Given the description of an element on the screen output the (x, y) to click on. 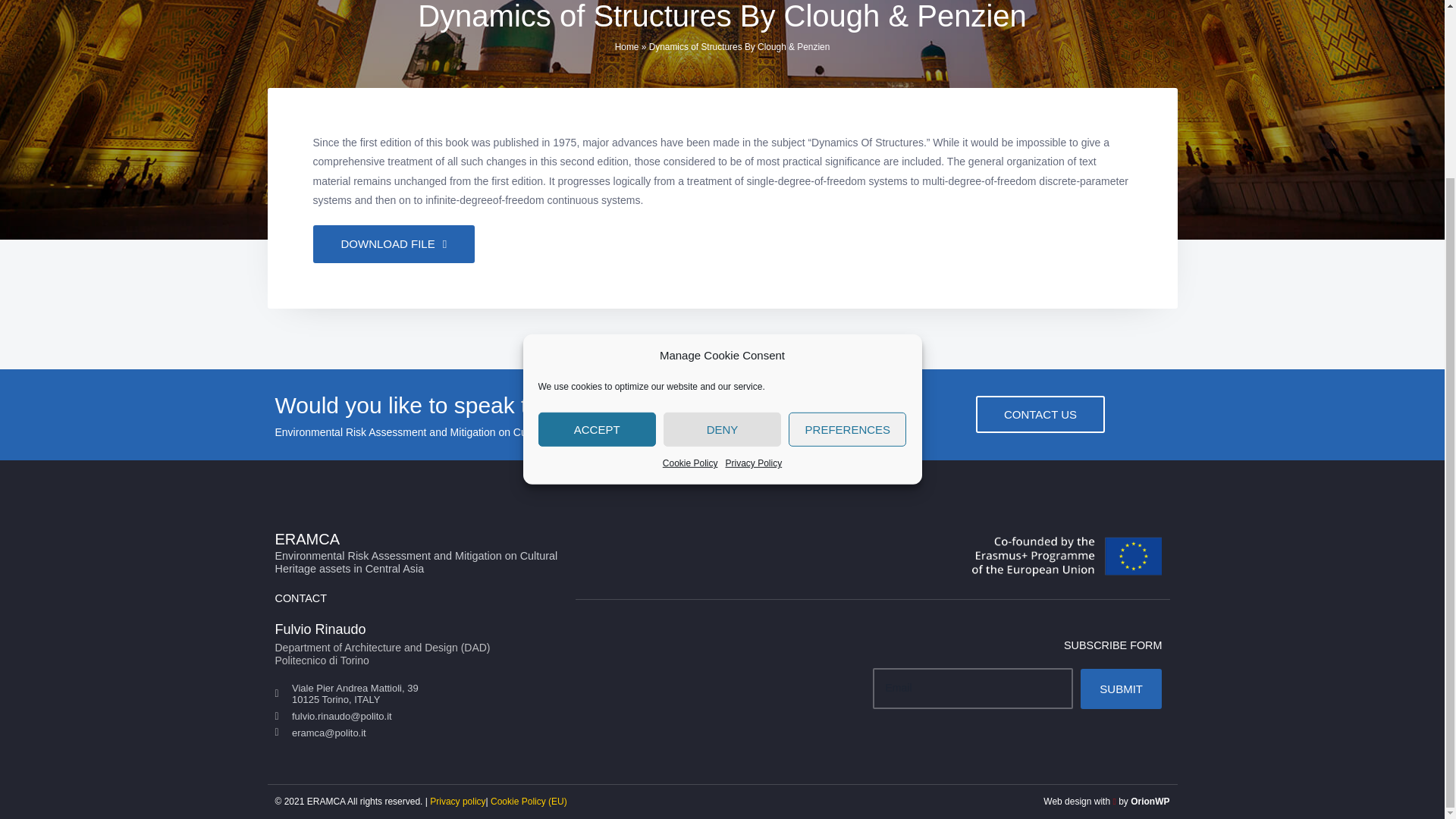
PREFERENCES (847, 315)
Cookie Policy (689, 307)
DENY (721, 333)
Privacy Policy (753, 295)
ACCEPT (597, 354)
